Given the description of an element on the screen output the (x, y) to click on. 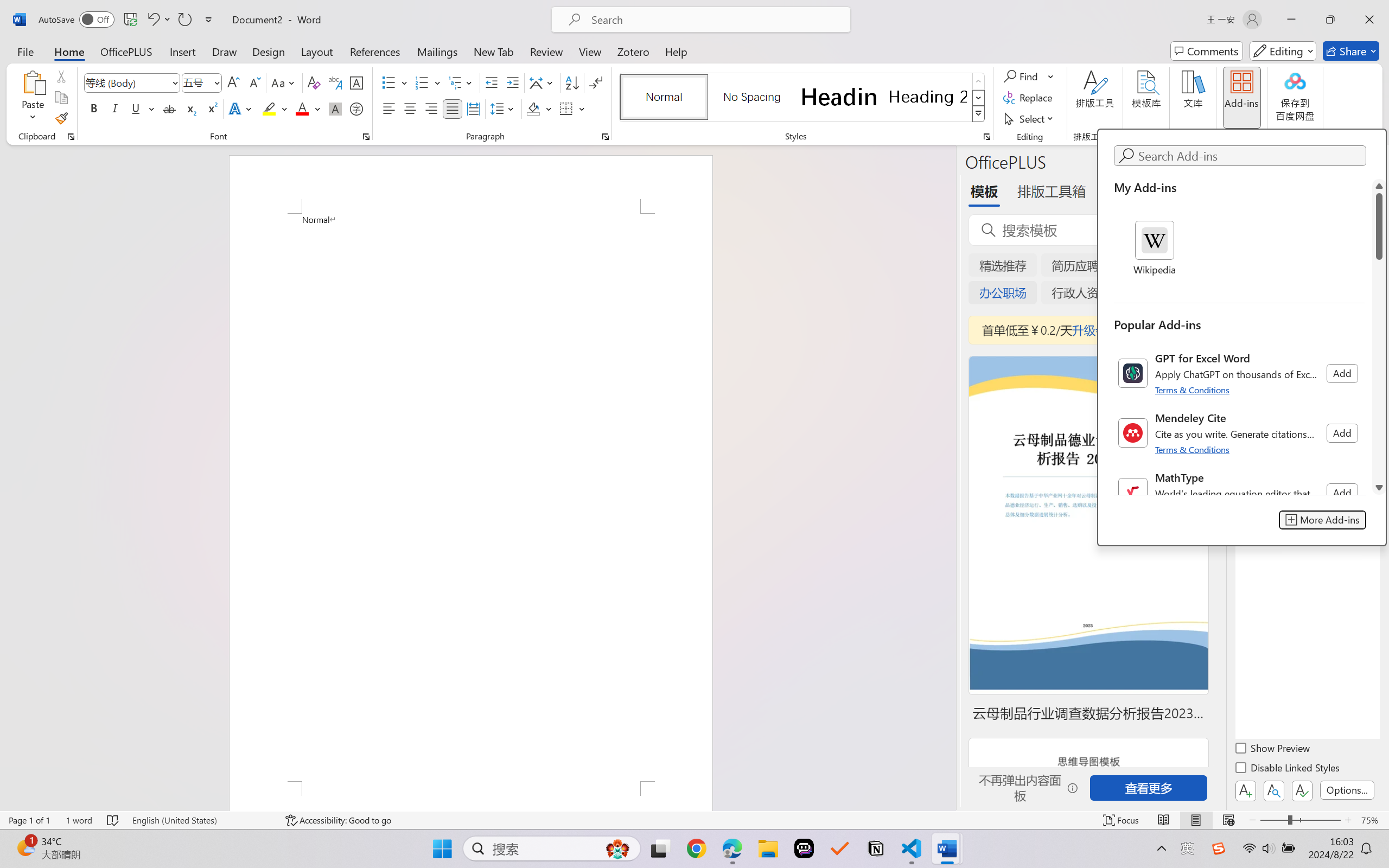
Zoom Out (1273, 819)
Italic (115, 108)
Strikethrough (169, 108)
Asian Layout (542, 82)
Underline (135, 108)
Numbering (428, 82)
More Add-ins (1322, 519)
File Tab (24, 51)
Add (1342, 492)
Font (126, 82)
Select (1030, 118)
Options... (1346, 789)
